Given the description of an element on the screen output the (x, y) to click on. 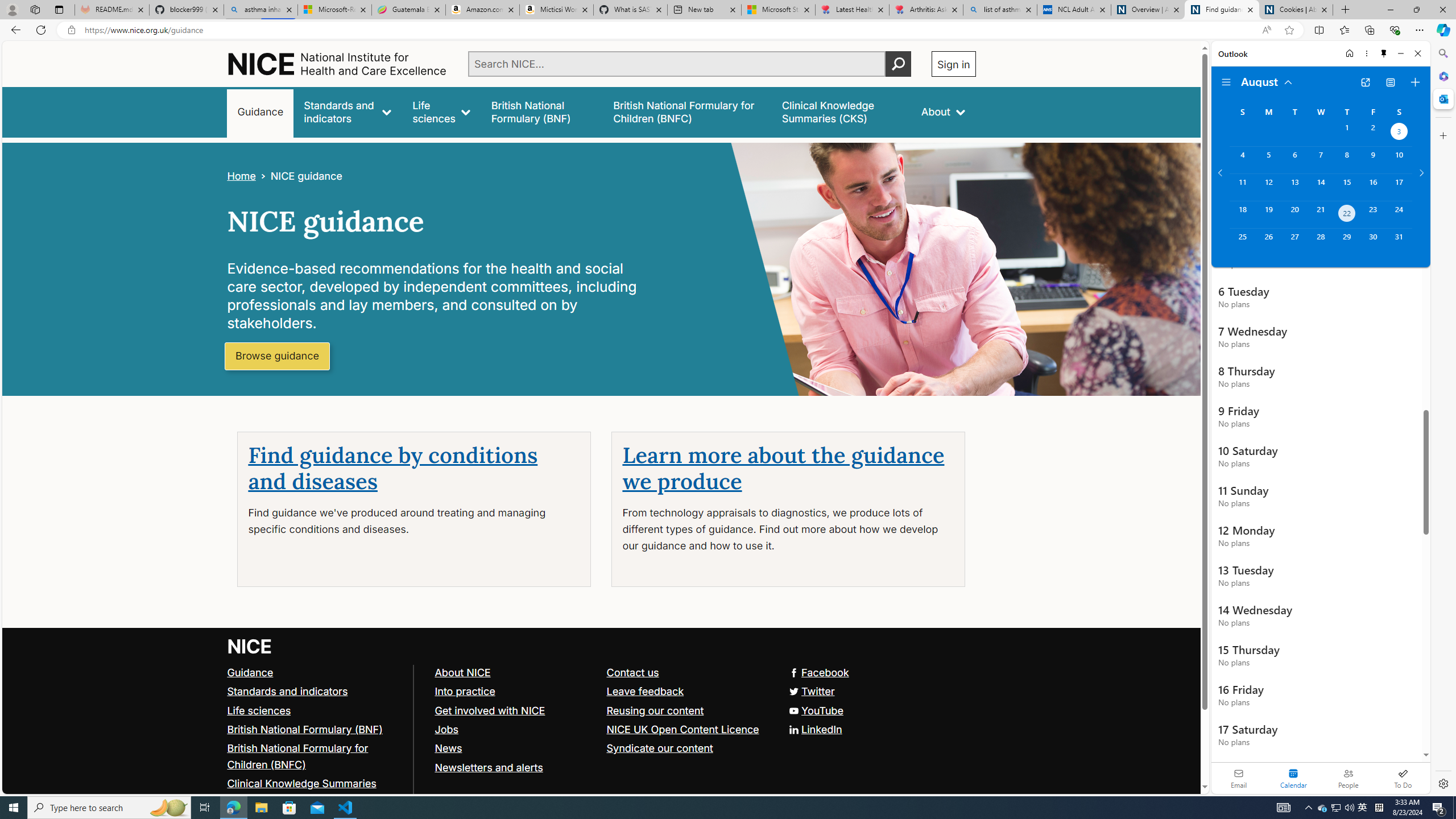
More options (1366, 53)
Folder navigation (1225, 82)
>NICE guidance (298, 176)
New Tab (1346, 9)
Into practice (514, 691)
British National Formulary for Children (BNFC) (297, 756)
Leave feedback (686, 691)
Selected calendar module. Date today is 22 (1293, 777)
LinkedIn (815, 729)
Thursday, August 15, 2024.  (1346, 186)
NICE UK Open Content Licence (681, 729)
